Given the description of an element on the screen output the (x, y) to click on. 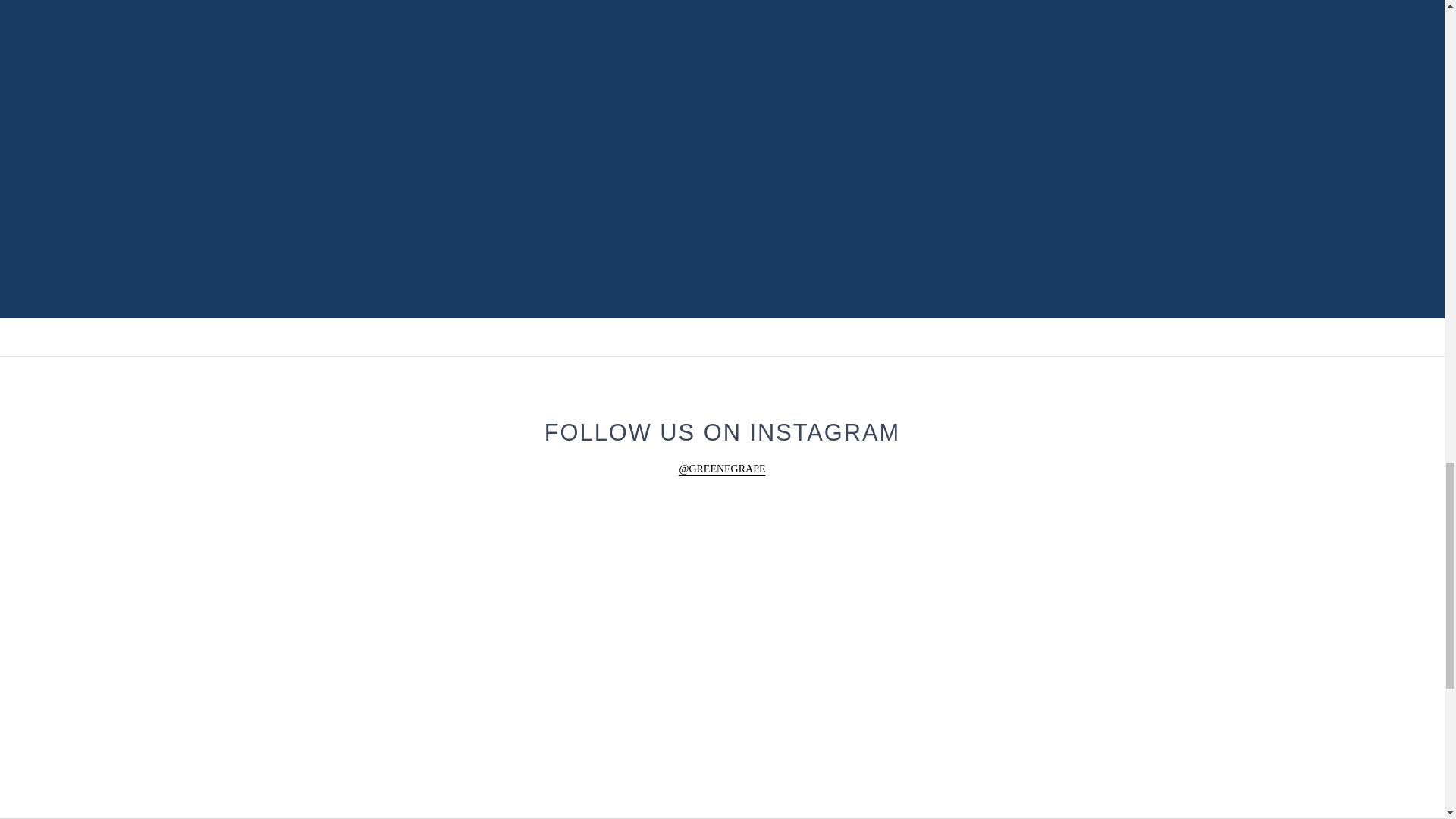
Greene Grape Provisions on Instagram (721, 469)
